Given the description of an element on the screen output the (x, y) to click on. 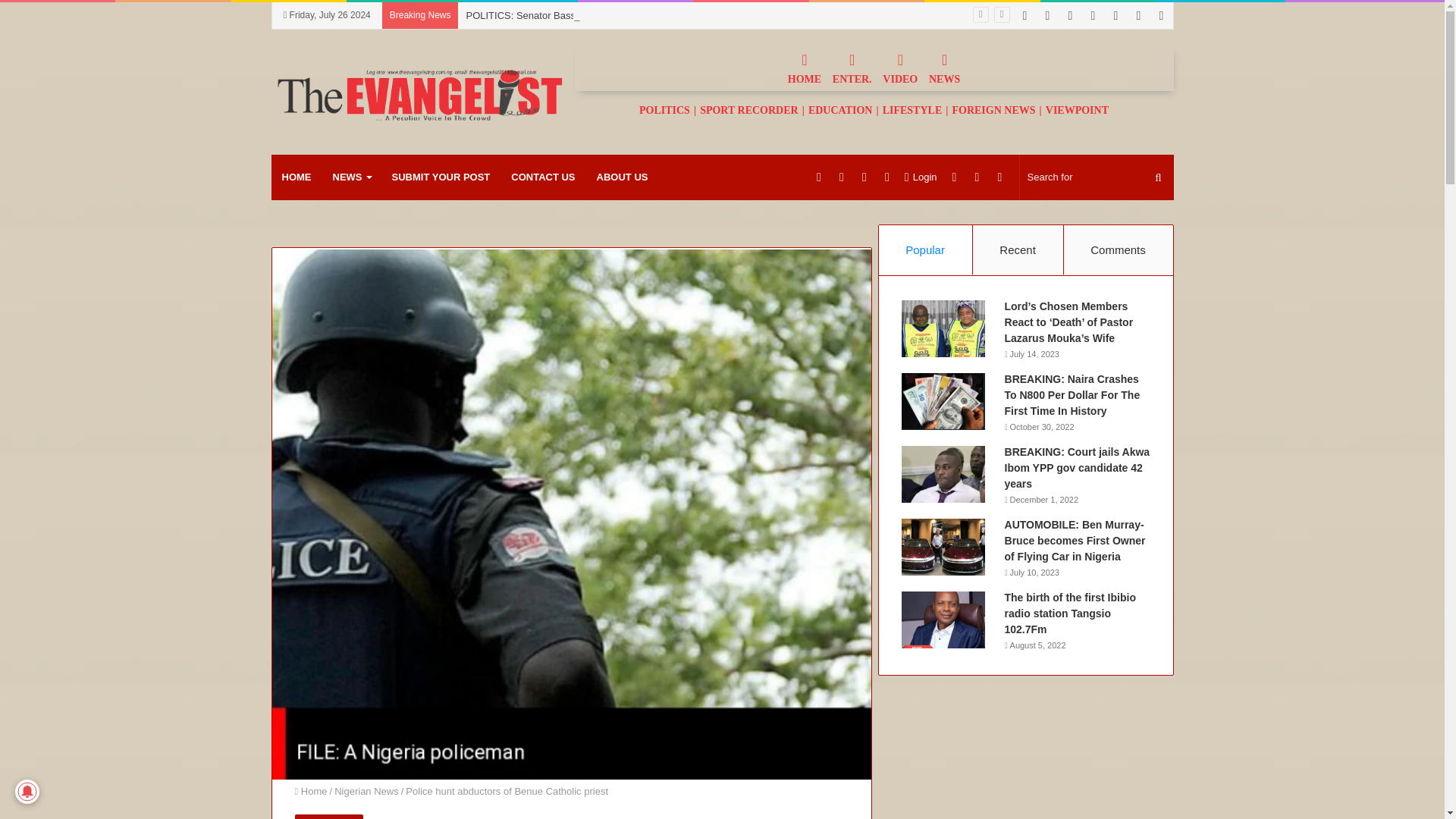
CONTACT US (542, 176)
POLITICS: Senator Bassey Albert Akpan Defects To APC (589, 15)
NEWS (350, 176)
LIFESTYLE (912, 110)
VIEWPOINT (1077, 110)
POLITICS (664, 110)
The Evangelist (418, 91)
FOREIGN NEWS (992, 110)
SPORT RECORDER (748, 110)
SUBMIT YOUR POST (440, 176)
Search for (1096, 176)
HOME (295, 176)
ABOUT US (622, 176)
HOME (804, 67)
EDUCATION (840, 110)
